Given the description of an element on the screen output the (x, y) to click on. 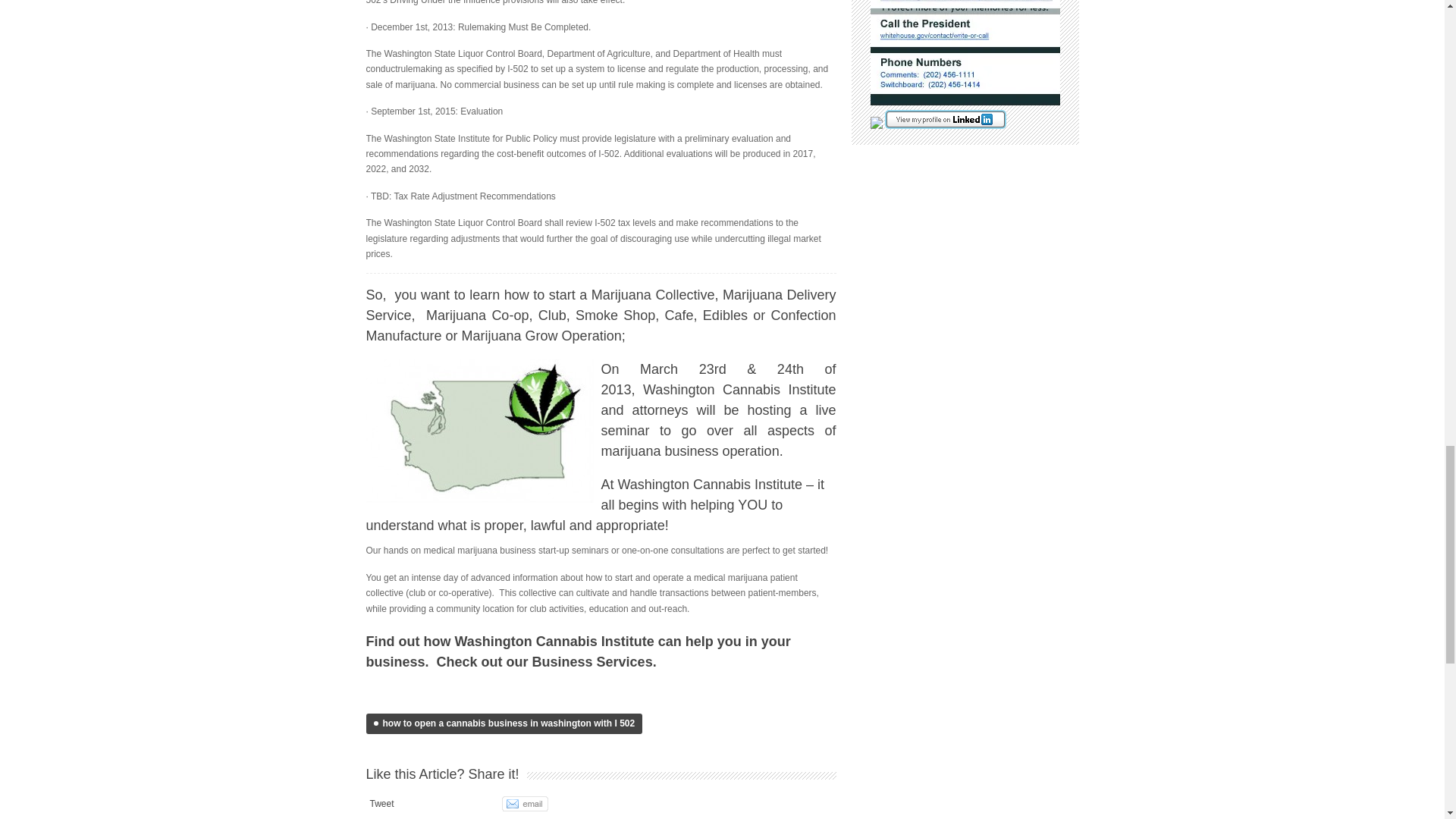
how to open a cannabis business in washington with I 502 (503, 723)
Share on Tumblr (470, 803)
Share on Tumblr (470, 803)
i 502 requirements for business in seattle (482, 432)
Tweet (381, 803)
